Given the description of an element on the screen output the (x, y) to click on. 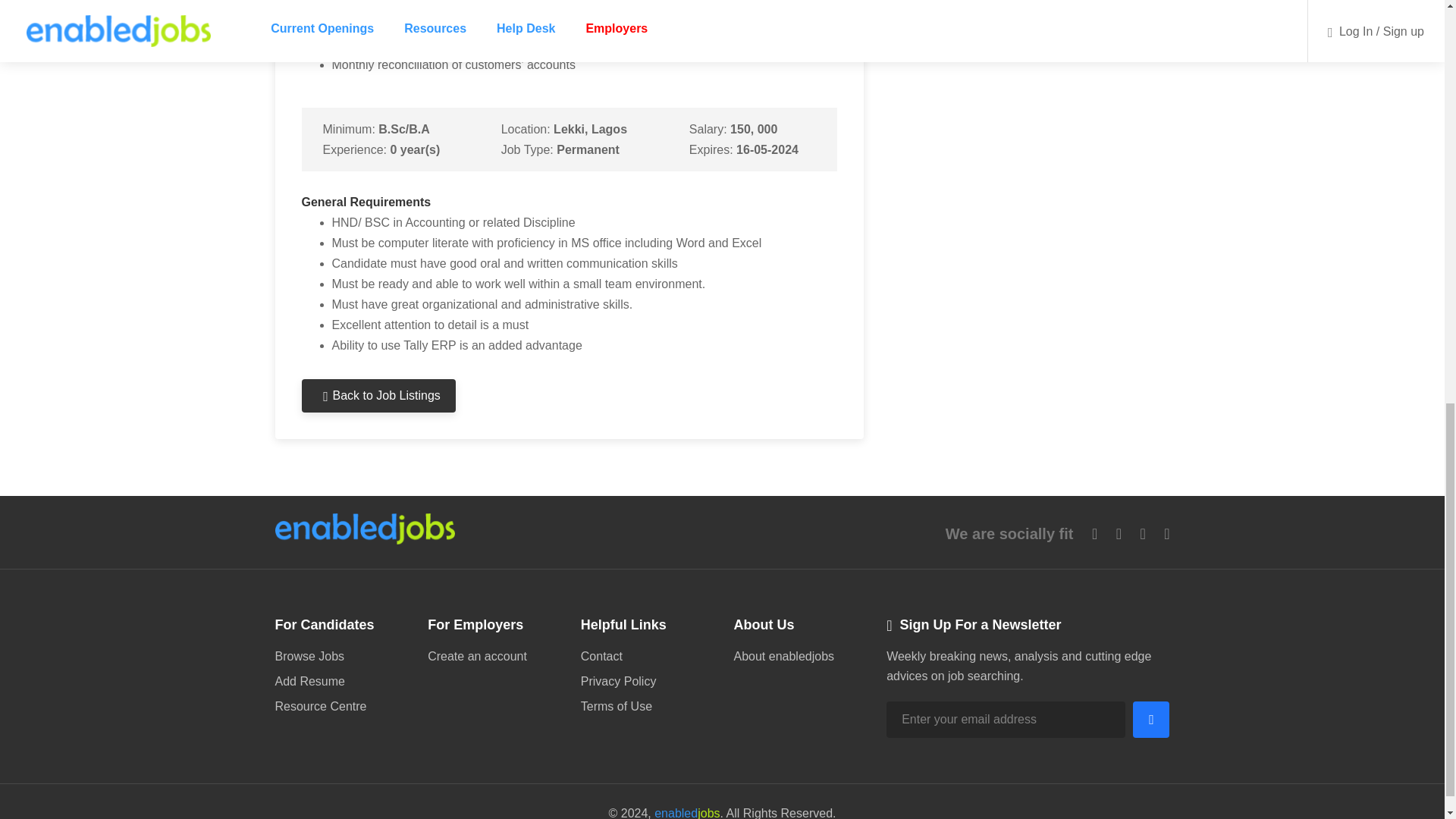
Contact (645, 658)
Terms of Use (645, 704)
Browse Jobs (339, 658)
About enabledjobs (798, 656)
Create an account (492, 656)
Resource Centre (339, 704)
We are socially fit (1009, 533)
Add Resume (339, 681)
Back to Job Listings (378, 395)
Privacy Policy (645, 681)
